Given the description of an element on the screen output the (x, y) to click on. 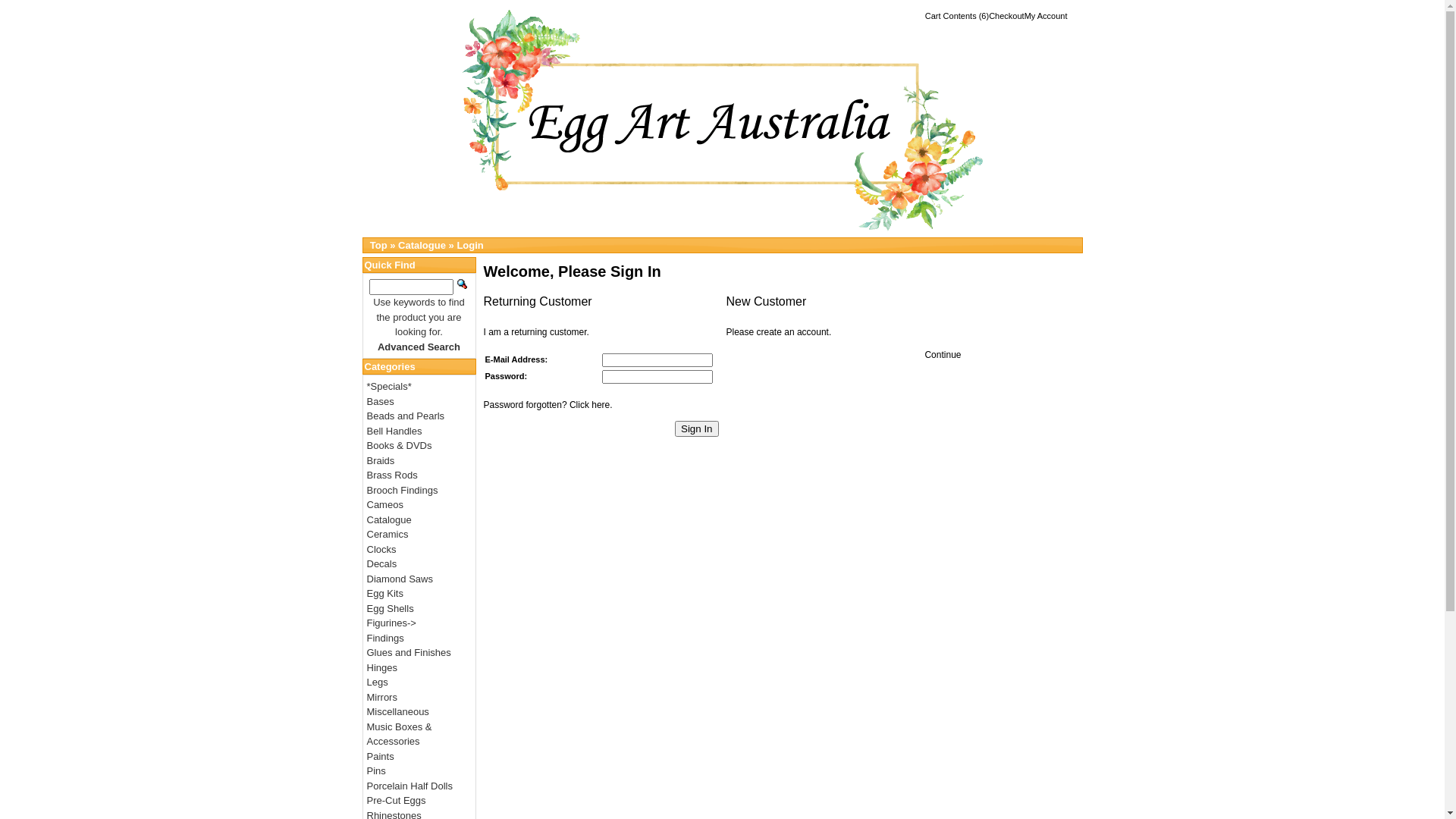
Cart Contents (6) Element type: text (956, 15)
Braids Element type: text (381, 460)
Glues and Finishes Element type: text (409, 652)
Login Element type: text (469, 245)
Sign In Element type: text (696, 428)
Egg Kits Element type: text (385, 593)
Books & DVDs Element type: text (399, 445)
Music Boxes & Accessories Element type: text (399, 733)
Brooch Findings Element type: text (402, 489)
Top Element type: text (378, 245)
Findings Element type: text (385, 637)
*Specials* Element type: text (389, 386)
Ceramics Element type: text (387, 533)
Hinges Element type: text (382, 666)
Pins Element type: text (376, 770)
Continue Element type: text (942, 354)
Catalogue Element type: text (389, 519)
Bell Handles Element type: text (394, 430)
Beads and Pearls Element type: text (406, 415)
Catalogue Element type: text (421, 245)
Miscellaneous Element type: text (398, 711)
Mirrors Element type: text (382, 696)
Diamond Saws Element type: text (400, 578)
Clocks Element type: text (381, 548)
Checkout Element type: text (1005, 15)
My Account Element type: text (1045, 15)
Egg Shells Element type: text (390, 607)
Decals Element type: text (382, 563)
Figurines-> Element type: text (391, 622)
Egg Art Australia Element type: hover (722, 120)
Porcelain Half Dolls Element type: text (409, 784)
Cameos Element type: text (385, 504)
 Quick Find  Element type: hover (462, 283)
Advanced Search Element type: text (418, 346)
Password forgotten? Click here. Element type: text (547, 404)
Bases Element type: text (380, 401)
Legs Element type: text (377, 681)
Pre-Cut Eggs Element type: text (396, 800)
Brass Rods Element type: text (392, 474)
Paints Element type: text (380, 756)
